Given the description of an element on the screen output the (x, y) to click on. 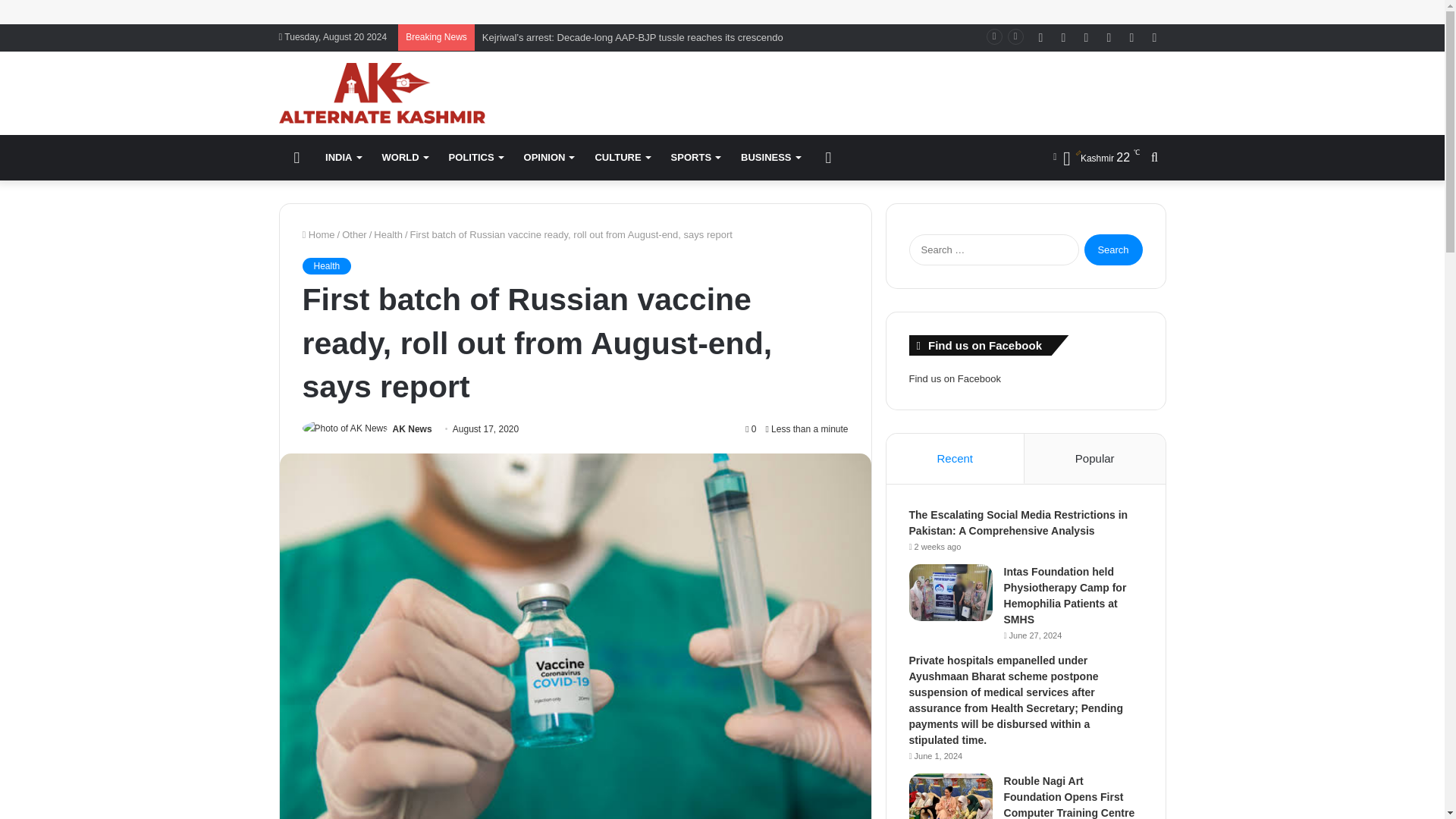
BUSINESS (769, 157)
Other (354, 234)
WORLD (404, 157)
AK News (412, 429)
Search (1113, 249)
SPORTS (695, 157)
Alternate Kashmir (381, 93)
Scattered Clouds (1096, 157)
POLITICS (475, 157)
INDIA (342, 157)
